Given the description of an element on the screen output the (x, y) to click on. 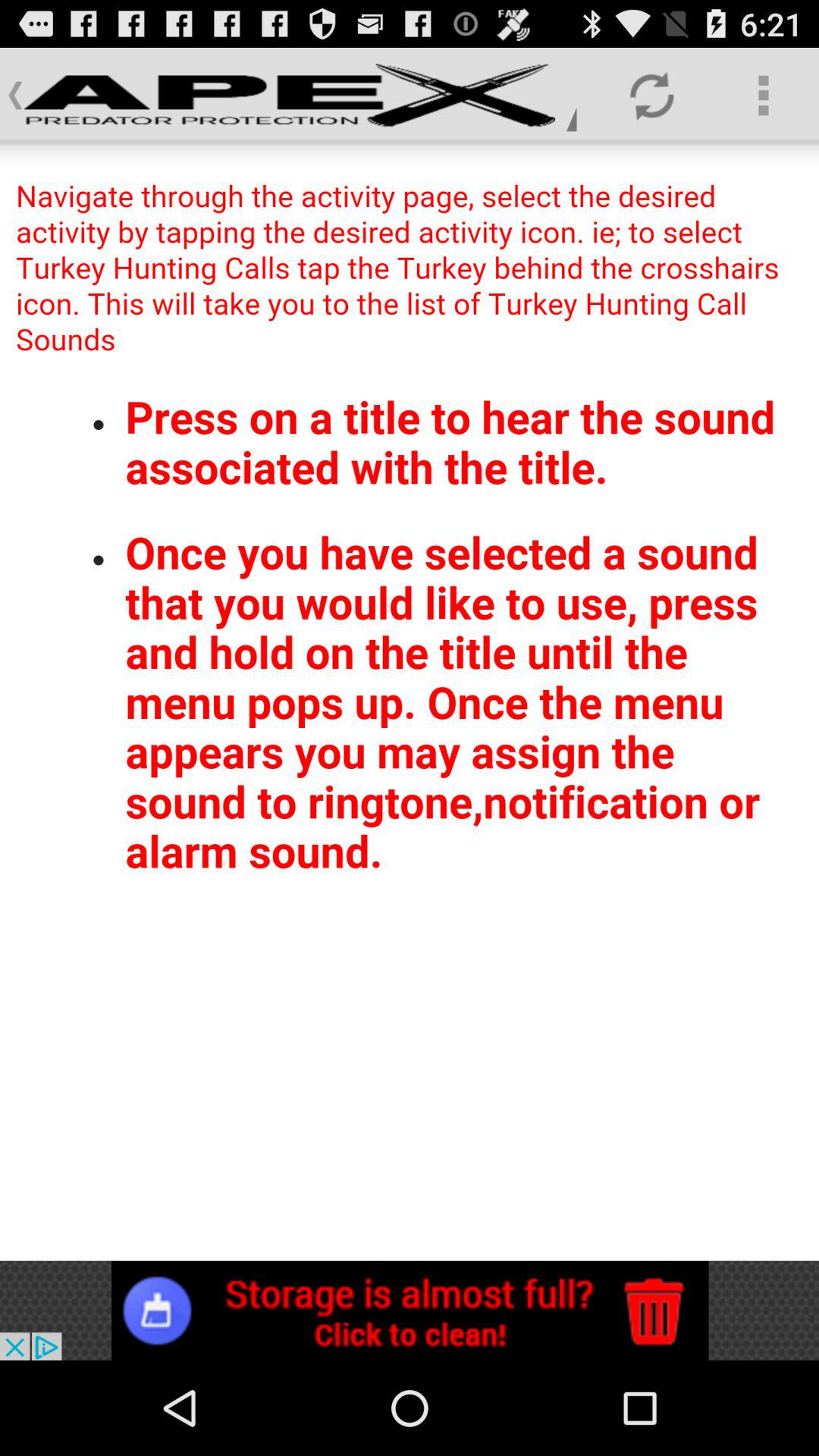
click bottom advertisement (409, 1310)
